Given the description of an element on the screen output the (x, y) to click on. 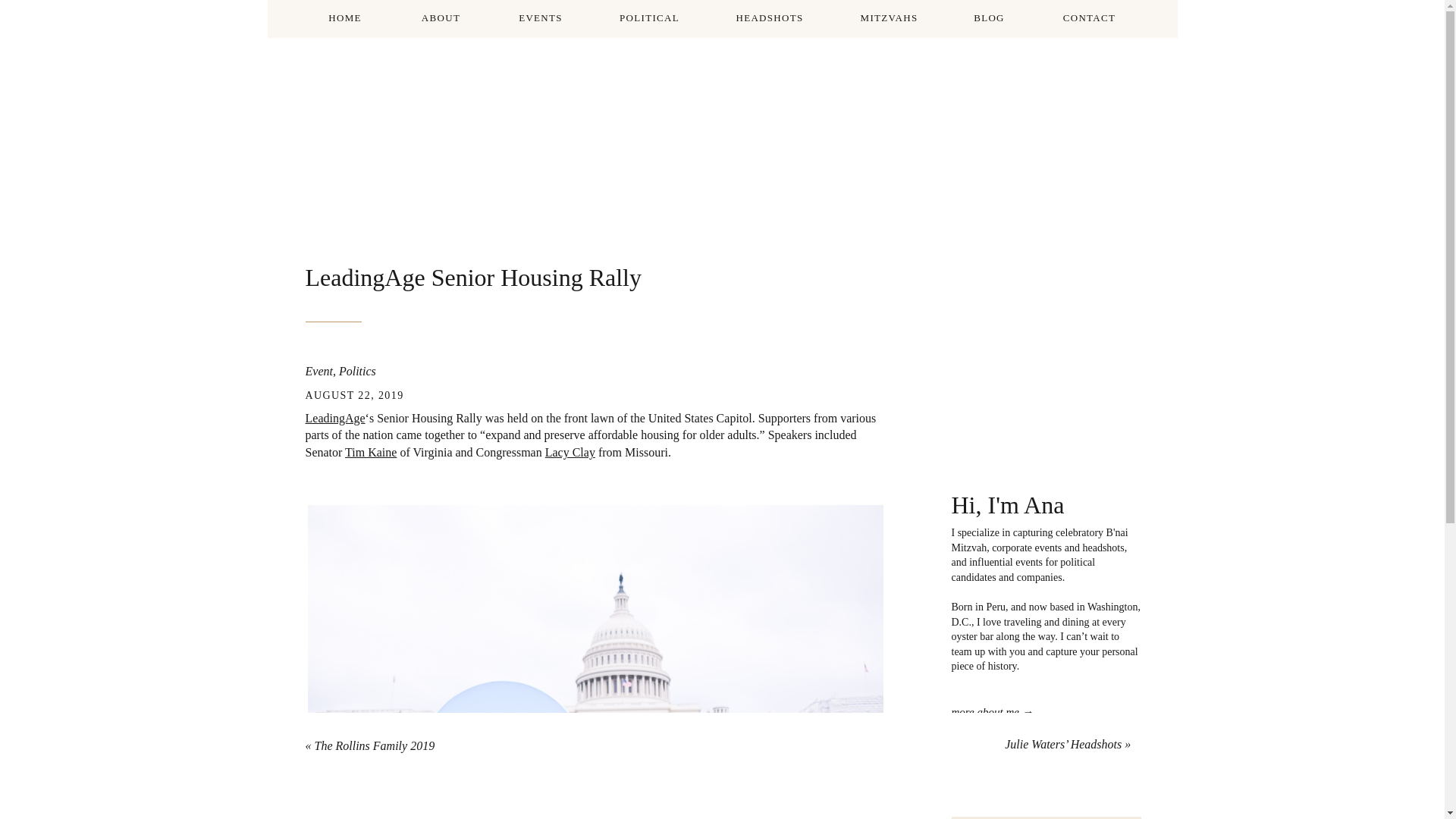
Politics (357, 370)
Tim Kaine (370, 451)
The Rollins Family 2019 (373, 745)
LeadingAge (334, 418)
CONTACT (1089, 18)
BLOG (990, 18)
Lacy Clay (569, 451)
HOME (345, 18)
MITZVAHS (889, 18)
EVENTS (539, 18)
POLITICAL (649, 18)
Event (317, 370)
HEADSHOTS (769, 18)
ABOUT (439, 18)
